Given the description of an element on the screen output the (x, y) to click on. 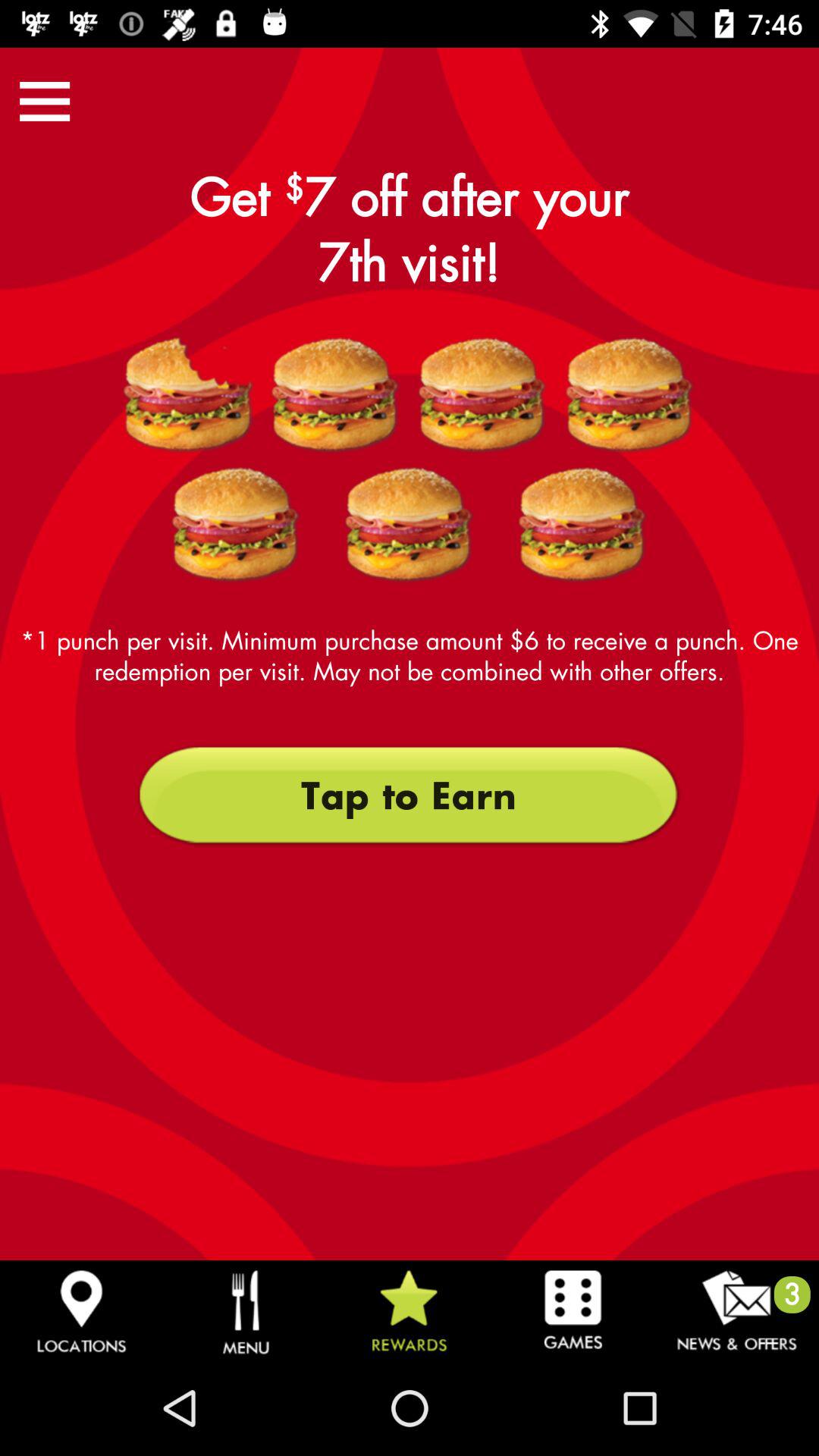
click the item below the 1 punch per item (408, 795)
